Given the description of an element on the screen output the (x, y) to click on. 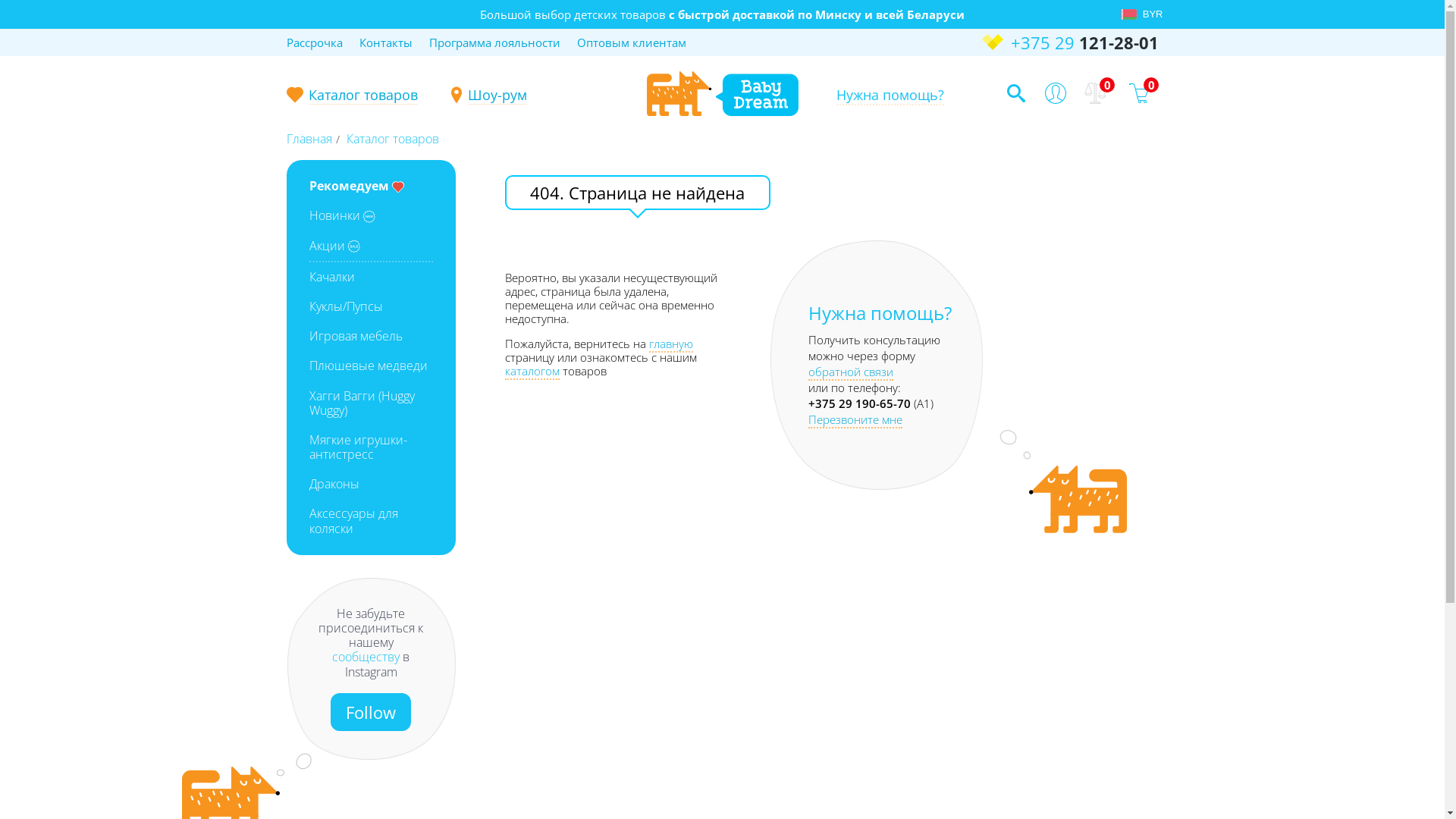
+375 29 121-28-01 Element type: text (1069, 42)
BYR Element type: text (1148, 14)
0 Element type: text (1143, 92)
0 Element type: text (1099, 92)
Follow Element type: text (370, 712)
